Given the description of an element on the screen output the (x, y) to click on. 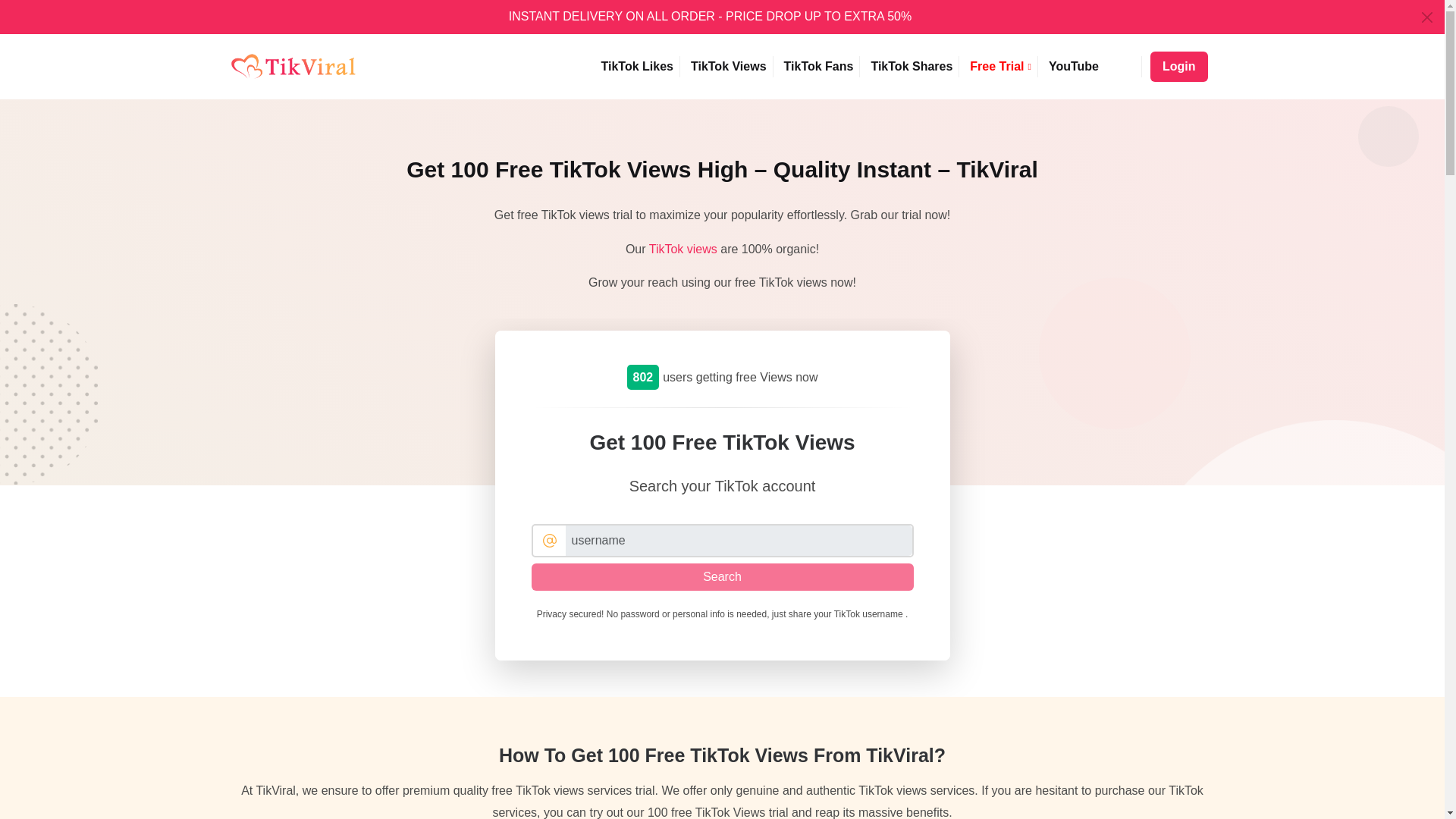
TikTok Views (728, 66)
TikTok Shares (911, 66)
TikTok Likes (636, 66)
Login (1179, 66)
TikTok Shares (911, 66)
TikTok Fans (818, 66)
YouTube (1073, 66)
TikViral (292, 66)
TikTok Likes (636, 66)
TikTok Views (728, 66)
TikTok Fans (818, 66)
Free Trial (1000, 66)
TikTok views (683, 248)
YouTube (1073, 66)
Search (721, 576)
